Given the description of an element on the screen output the (x, y) to click on. 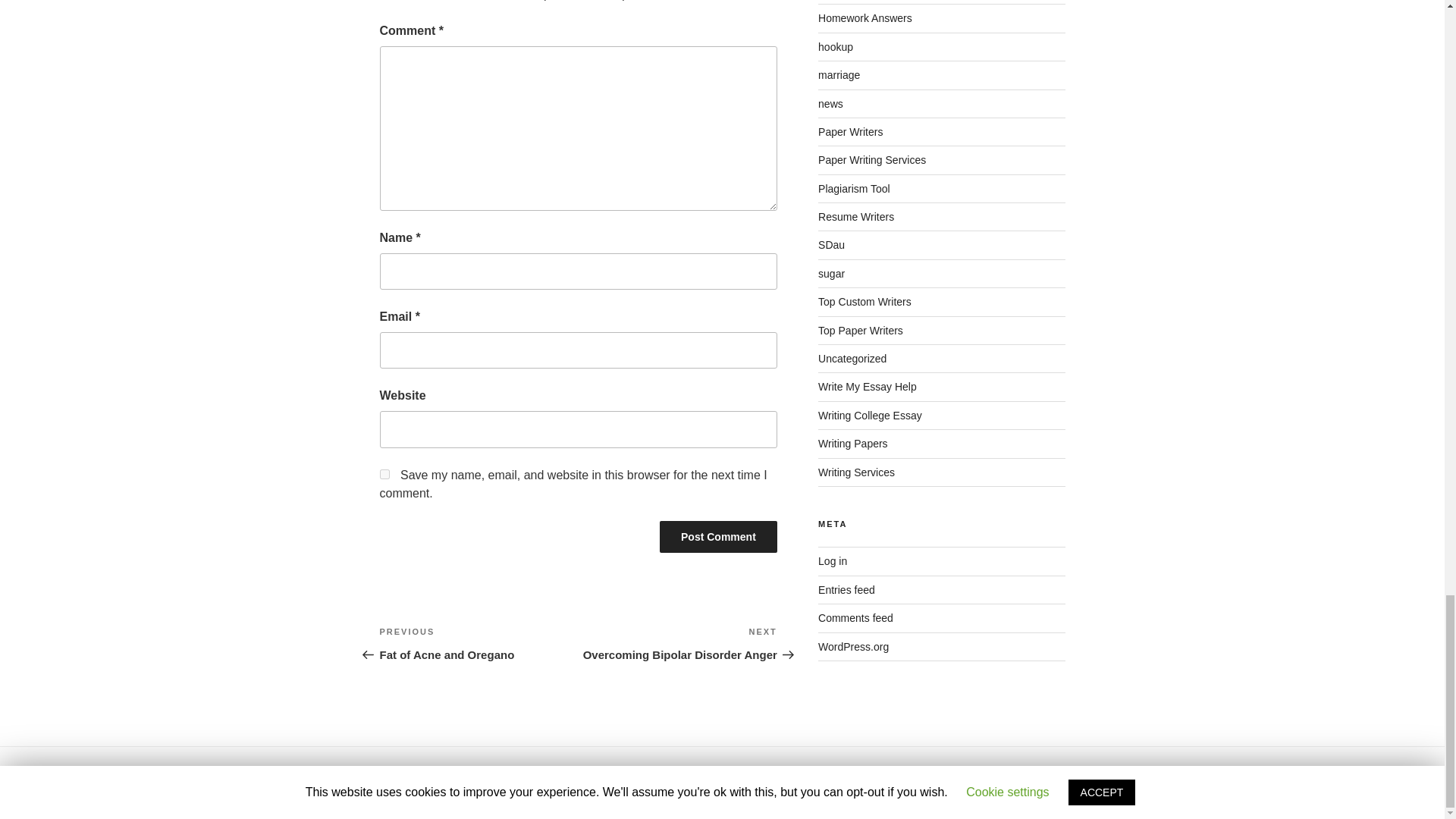
Post Comment (677, 643)
Post Comment (718, 536)
yes (718, 536)
